Given the description of an element on the screen output the (x, y) to click on. 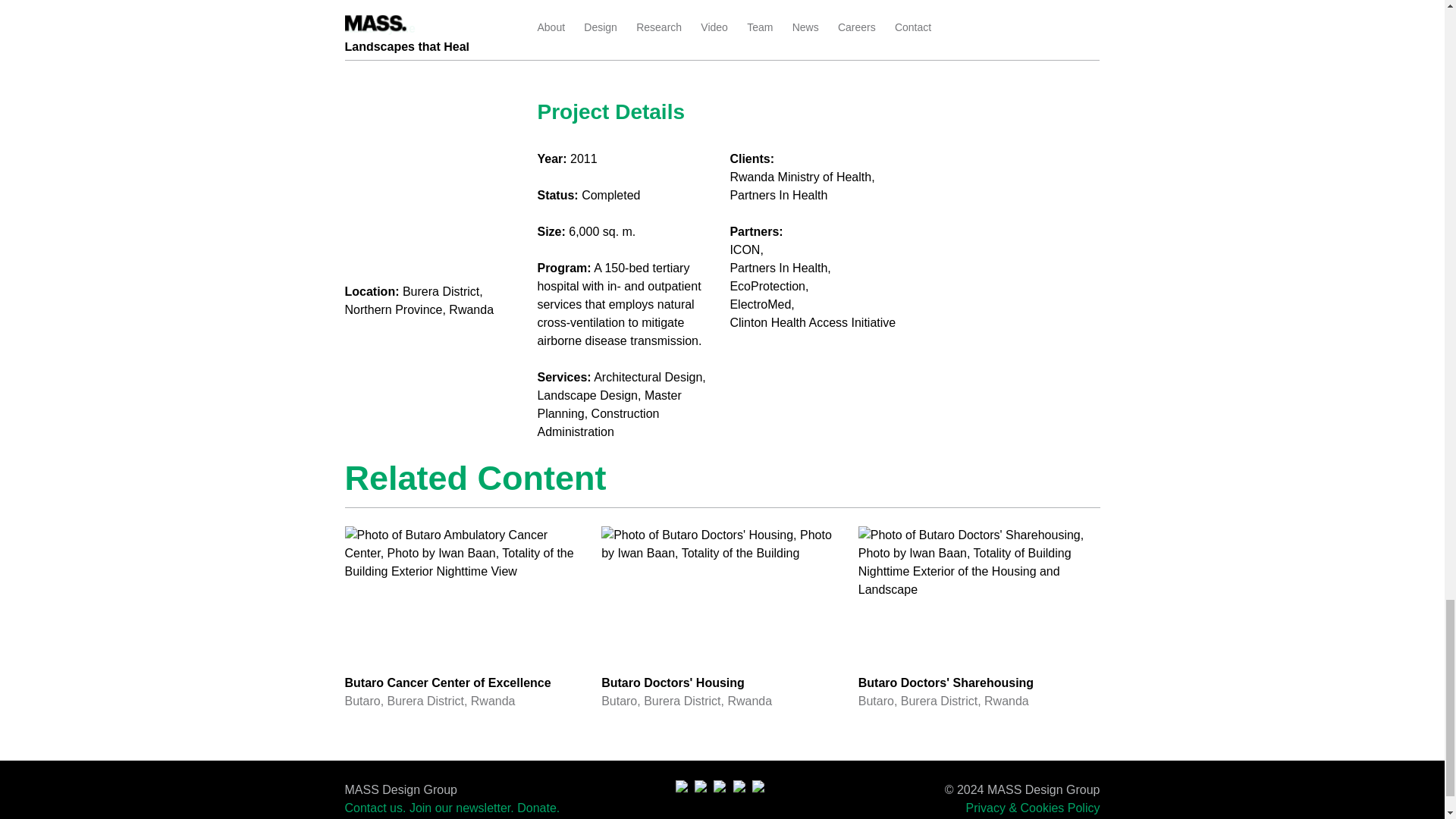
Join our newsletter. (461, 807)
Contact us. (374, 807)
Donate. (979, 618)
